Given the description of an element on the screen output the (x, y) to click on. 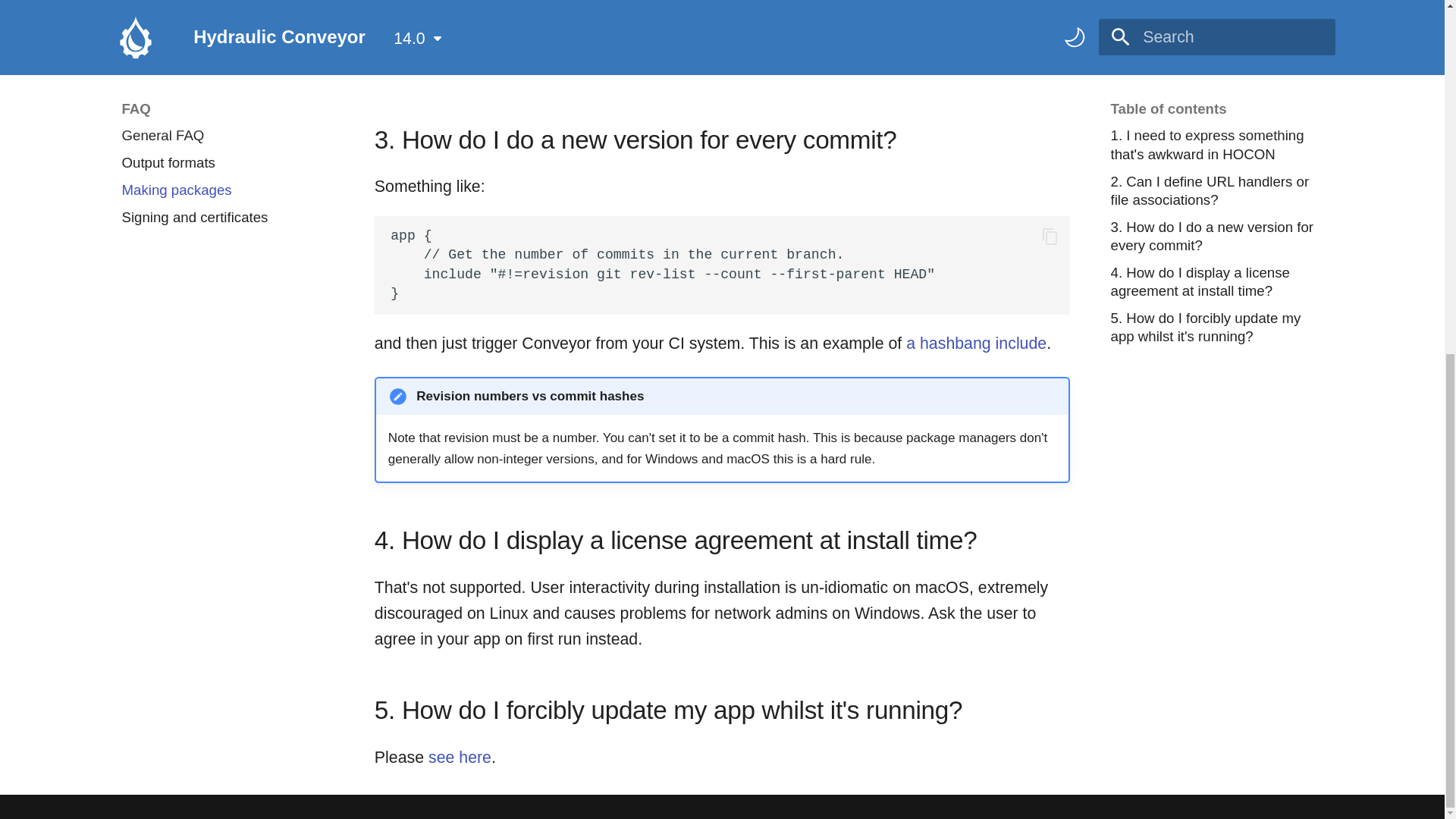
Copy to clipboard (1050, 236)
